Given the description of an element on the screen output the (x, y) to click on. 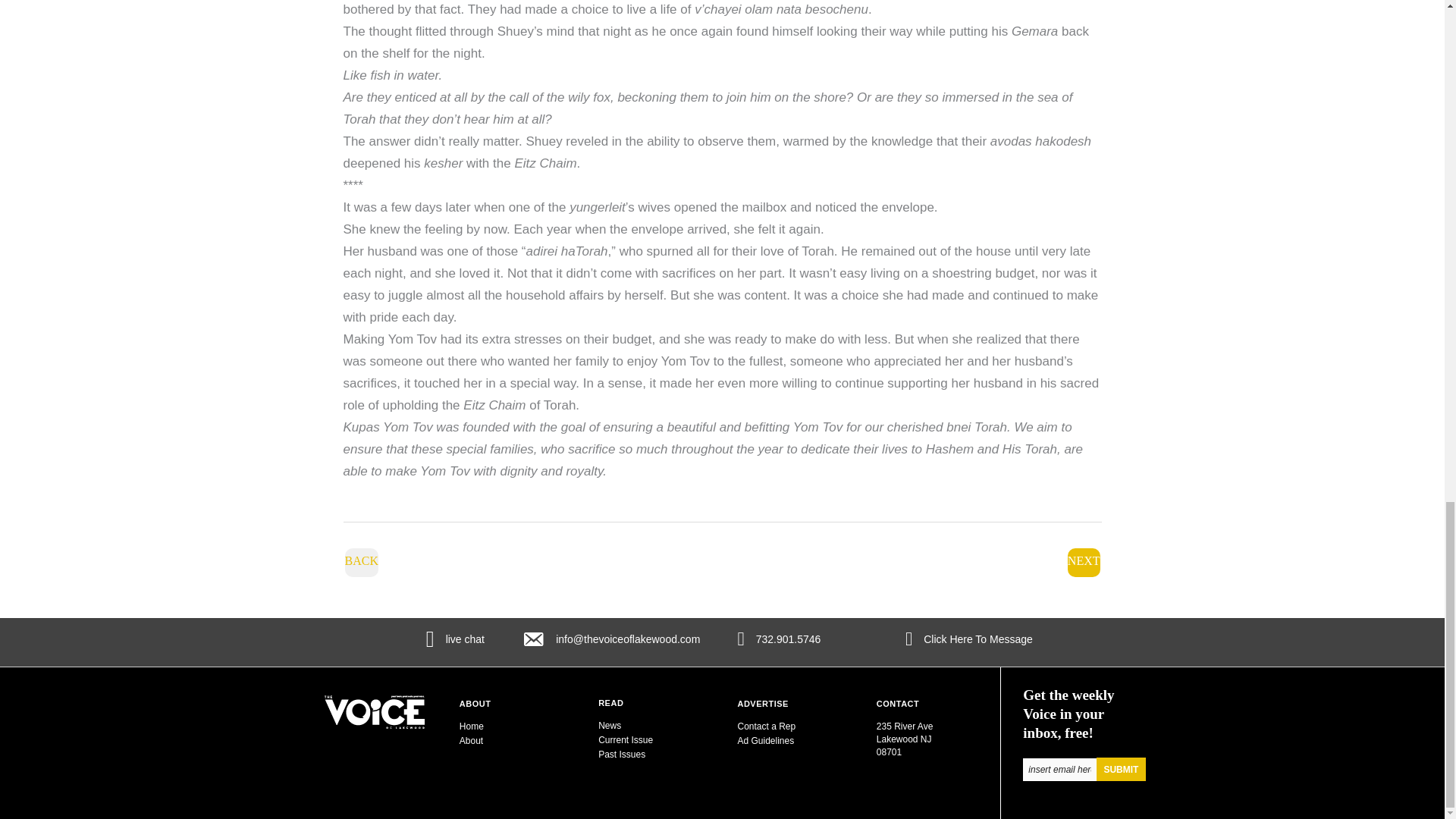
logo (374, 711)
732.901.5746 (788, 639)
BACK (360, 561)
live chat (464, 639)
Contact (897, 703)
NEXT (1083, 561)
